Given the description of an element on the screen output the (x, y) to click on. 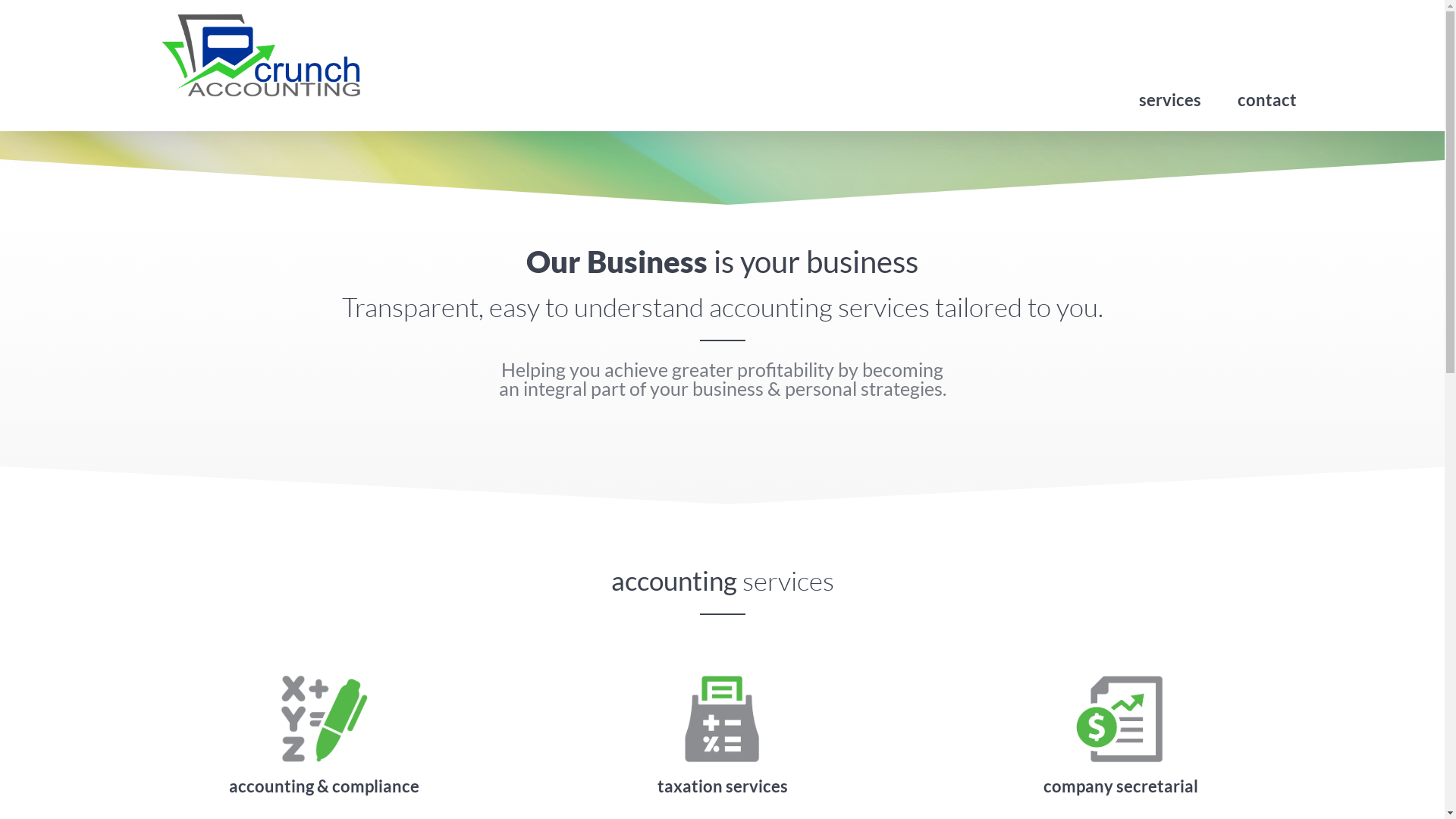
contact Element type: text (1266, 104)
services Element type: text (1170, 104)
